Given the description of an element on the screen output the (x, y) to click on. 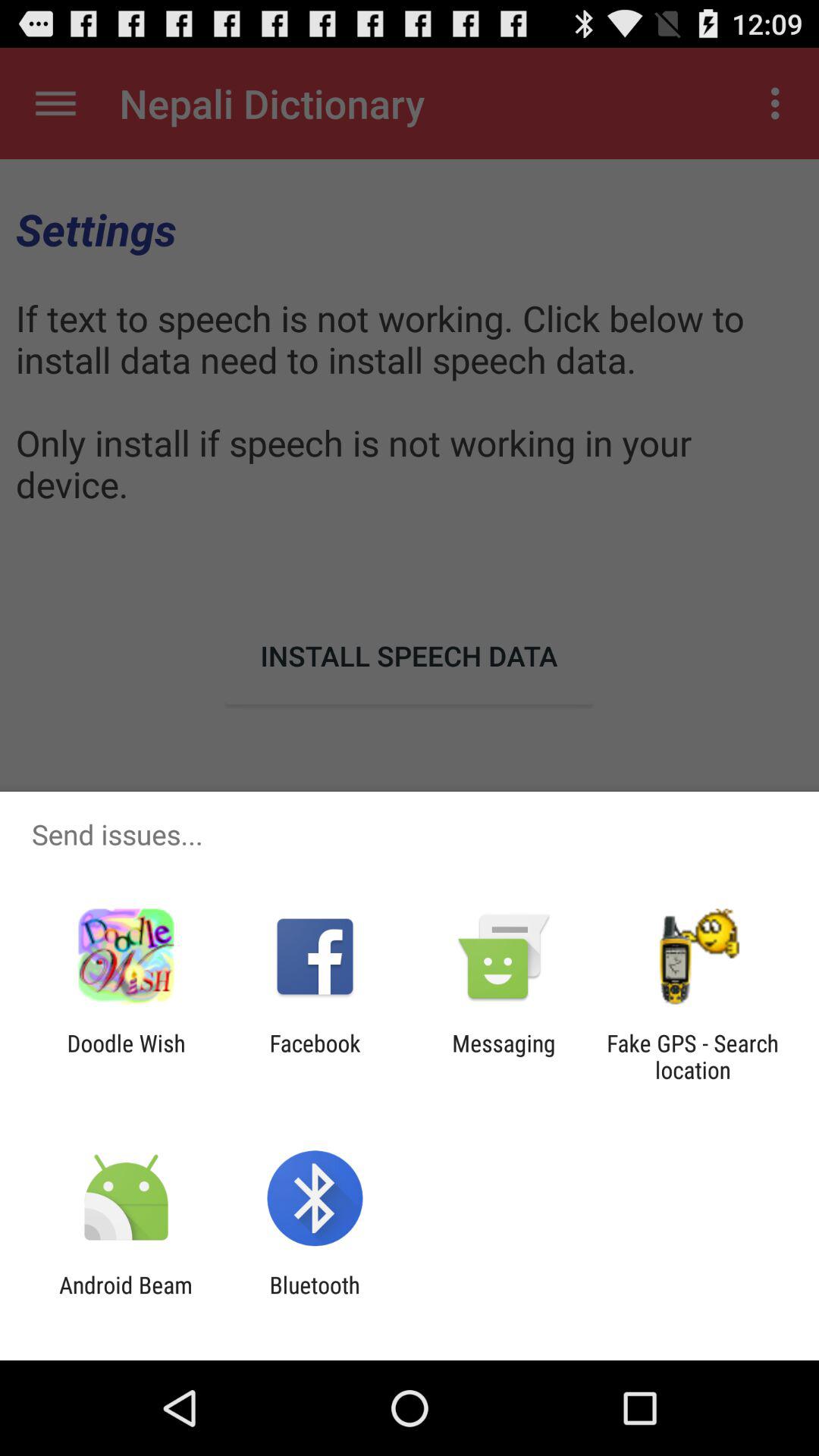
choose item to the right of messaging item (692, 1056)
